Given the description of an element on the screen output the (x, y) to click on. 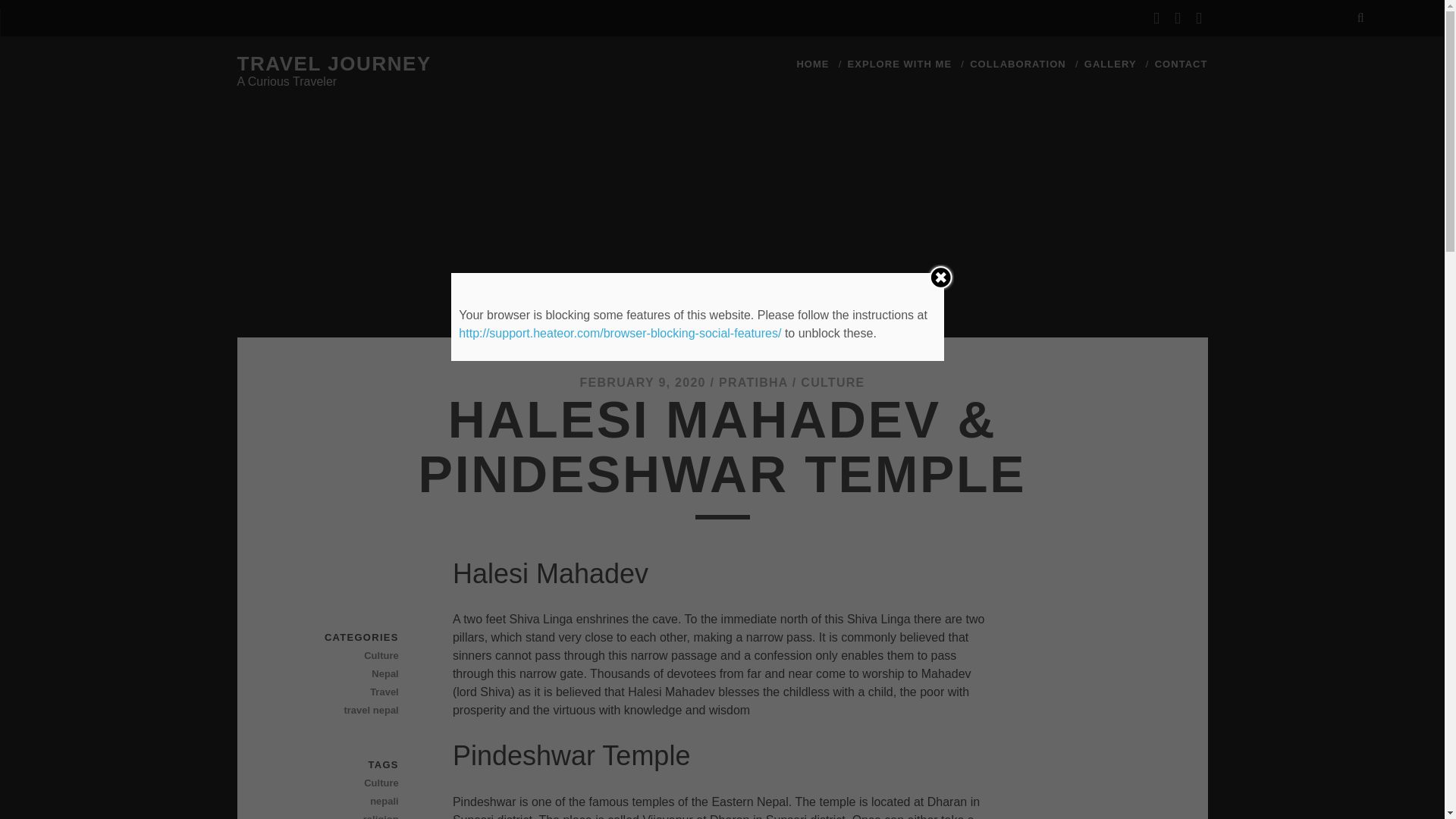
COLLABORATION (1017, 64)
Posts by Pratibha (753, 382)
HOME (812, 64)
View all posts in Culture (344, 656)
TRAVEL JOURNEY (332, 63)
CULTURE (832, 382)
CONTACT (1181, 64)
GALLERY (1110, 64)
EXPLORE WITH ME (899, 64)
PRATIBHA (753, 382)
